Given the description of an element on the screen output the (x, y) to click on. 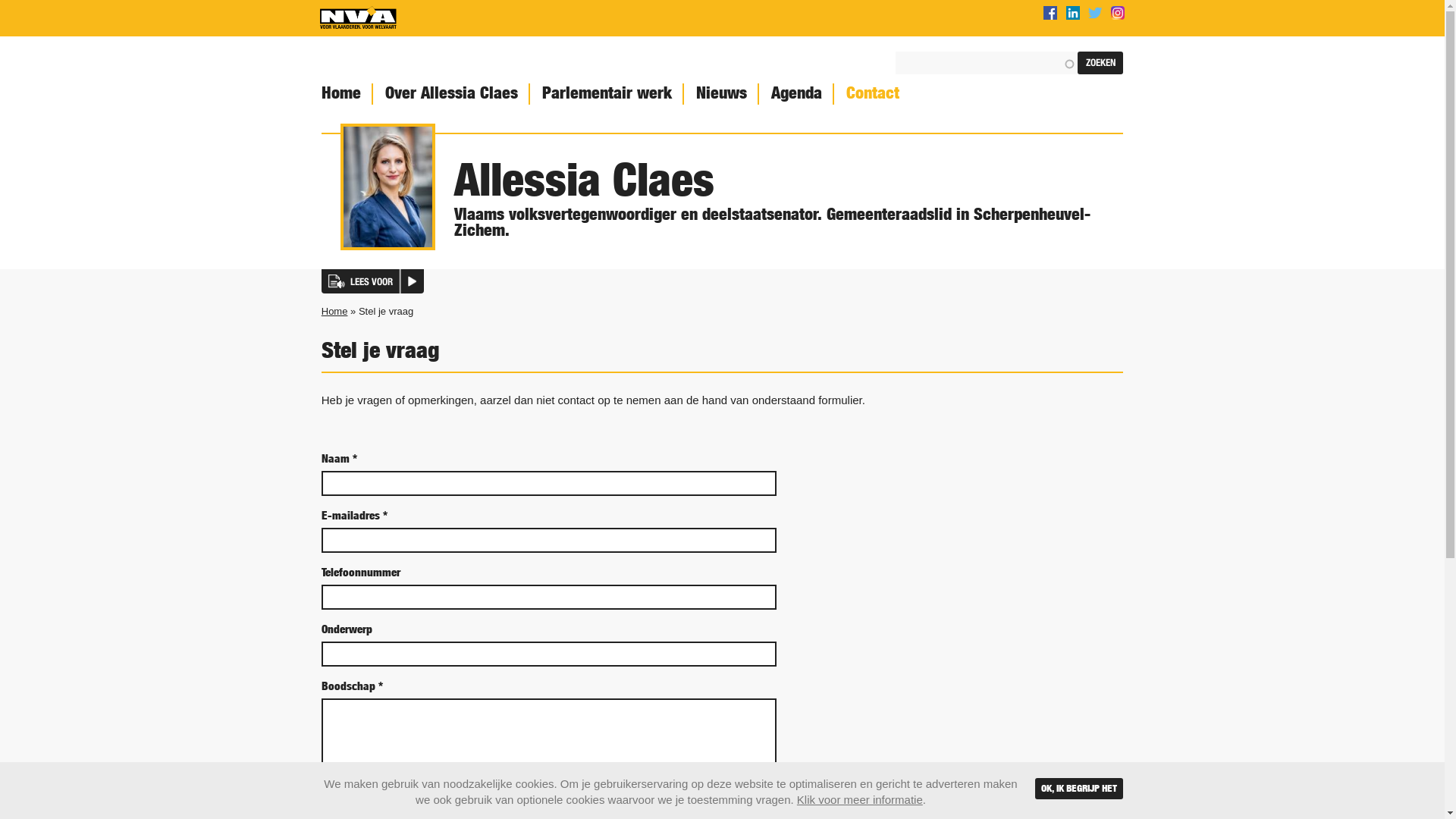
Home Element type: hover (357, 17)
Agenda Element type: text (794, 93)
Zoeken Element type: text (1100, 62)
OK, IK BEGRIJP HET Element type: text (1079, 788)
Home Element type: text (340, 93)
Over Allessia Claes Element type: text (449, 93)
Contact Element type: text (871, 93)
Nieuws Element type: text (719, 93)
Parlementair werk Element type: text (605, 93)
LEES VOOR Element type: text (372, 280)
Home Element type: text (334, 310)
Geef de woorden op waarnaar u wilt zoeken. Element type: hover (986, 62)
Klik voor meer informatie Element type: text (859, 799)
